Given the description of an element on the screen output the (x, y) to click on. 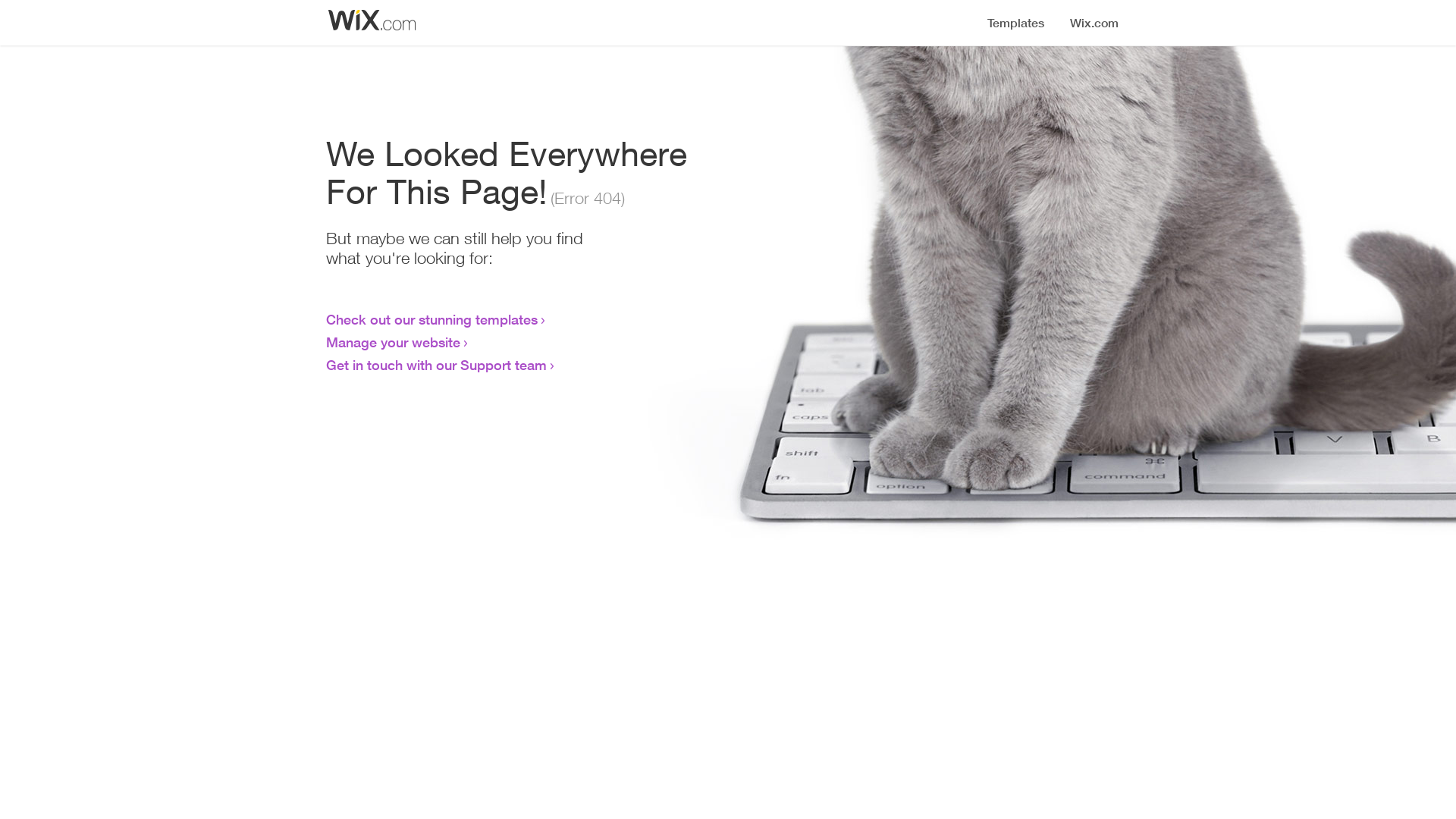
Manage your website Element type: text (393, 341)
Get in touch with our Support team Element type: text (436, 364)
Check out our stunning templates Element type: text (431, 318)
